Given the description of an element on the screen output the (x, y) to click on. 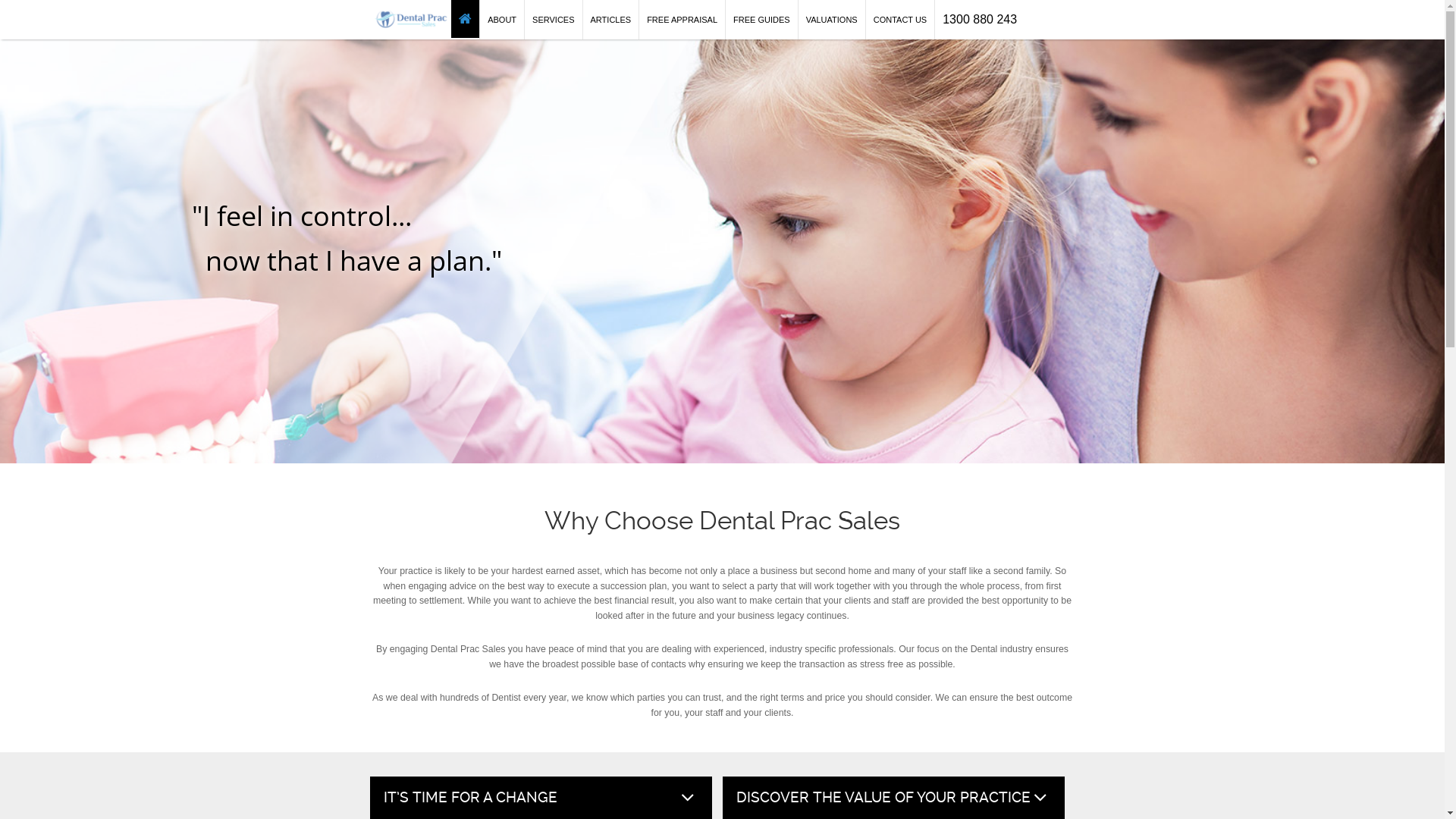
SERVICES Element type: text (552, 19)
ABOUT Element type: text (502, 19)
VALUATIONS Element type: text (831, 19)
FREE APPRAISAL Element type: text (681, 19)
FREE GUIDES Element type: text (761, 19)
ARTICLES Element type: text (611, 19)
CONTACT US Element type: text (900, 19)
Dental Prac Sales Element type: hover (410, 18)
1300 880 243 Element type: text (979, 19)
